Given the description of an element on the screen output the (x, y) to click on. 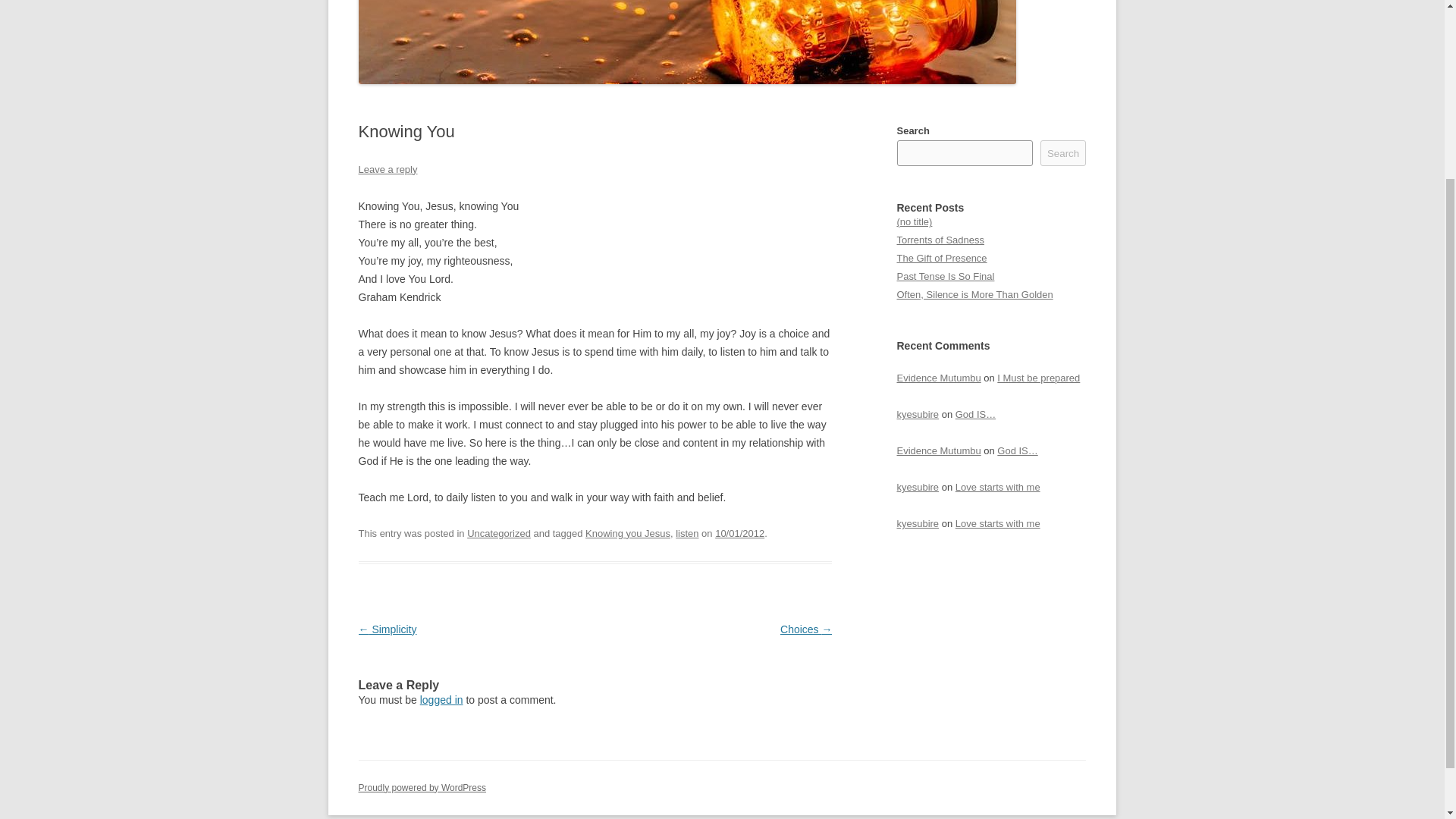
Past Tense Is So Final (945, 276)
Semantic Personal Publishing Platform (422, 787)
Proudly powered by WordPress (422, 787)
Love starts with me (998, 523)
10:08 PM (739, 532)
Search (1063, 153)
kyesubire (917, 414)
The Gift of Presence (941, 257)
listen (686, 532)
Love starts with me (998, 487)
Evidence Mutumbu (937, 378)
Leave a reply (387, 169)
Evidence Mutumbu (937, 450)
logged in (441, 699)
Torrents of Sadness (940, 239)
